Given the description of an element on the screen output the (x, y) to click on. 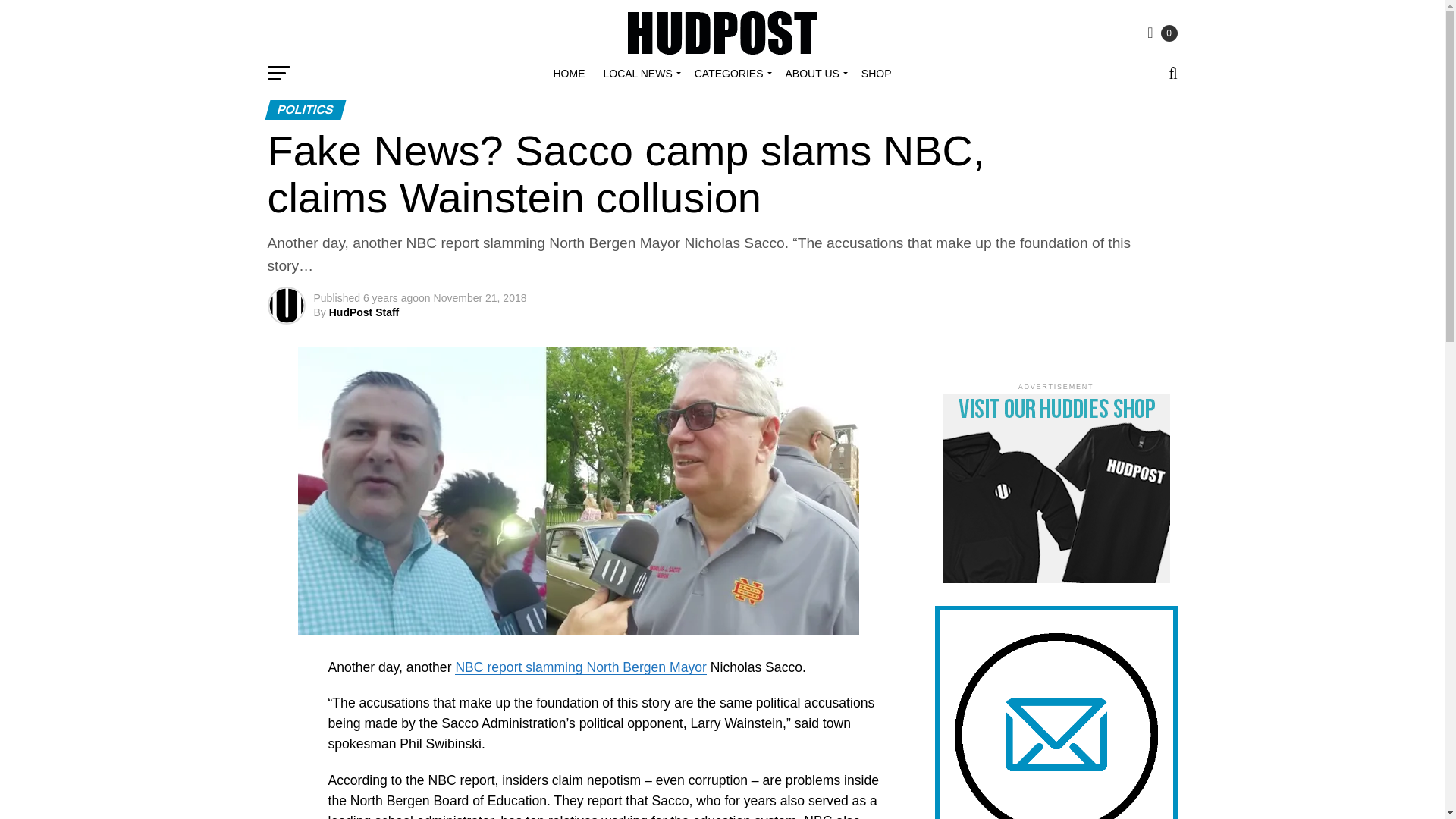
Posts by HudPost Staff (363, 312)
